Given the description of an element on the screen output the (x, y) to click on. 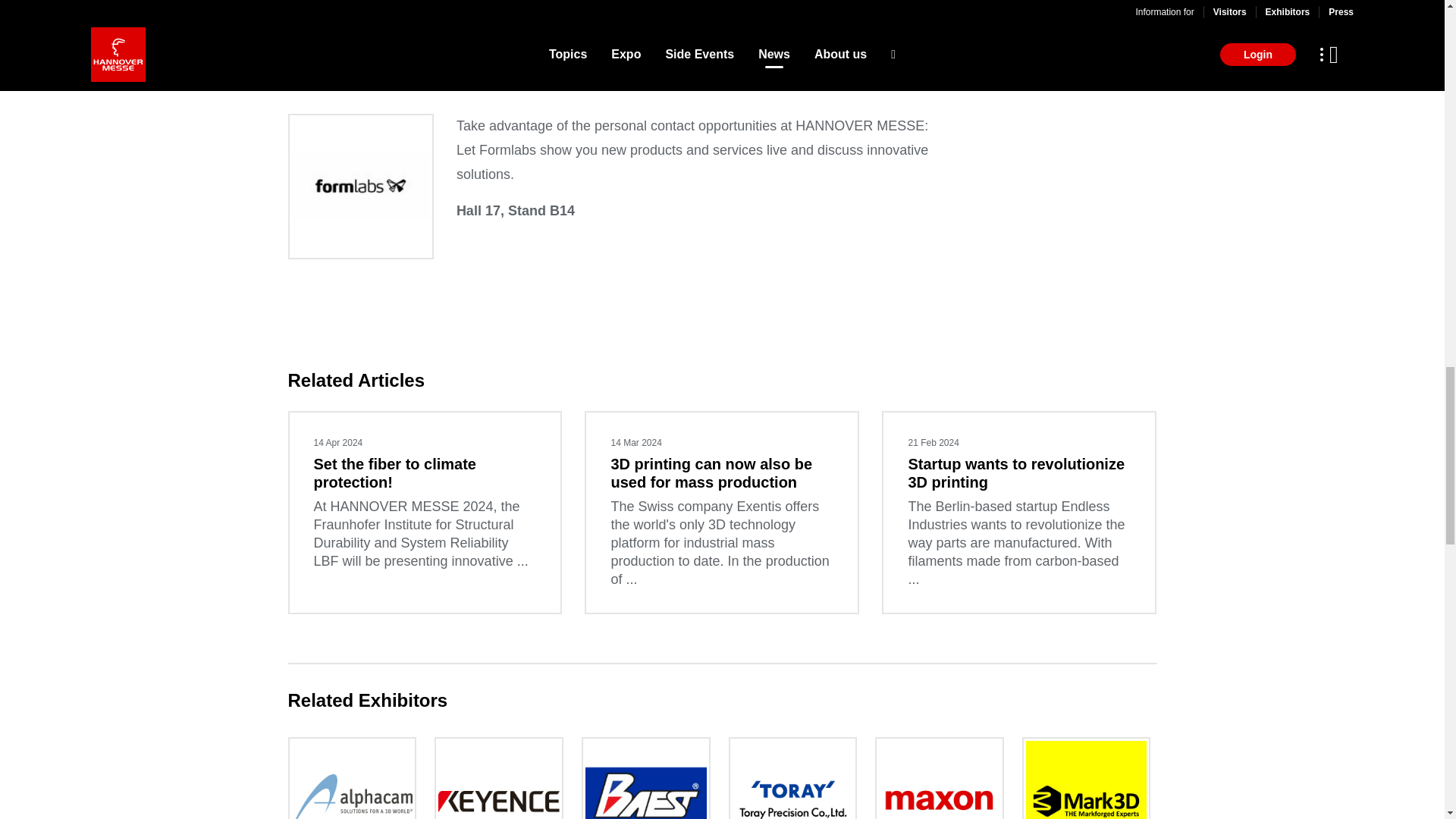
Mark3D GmbH (1086, 778)
maxon international (939, 778)
Toray Precision (792, 778)
Video (379, 5)
Keyence Deutschland (498, 778)
alphacam (352, 778)
